Given the description of an element on the screen output the (x, y) to click on. 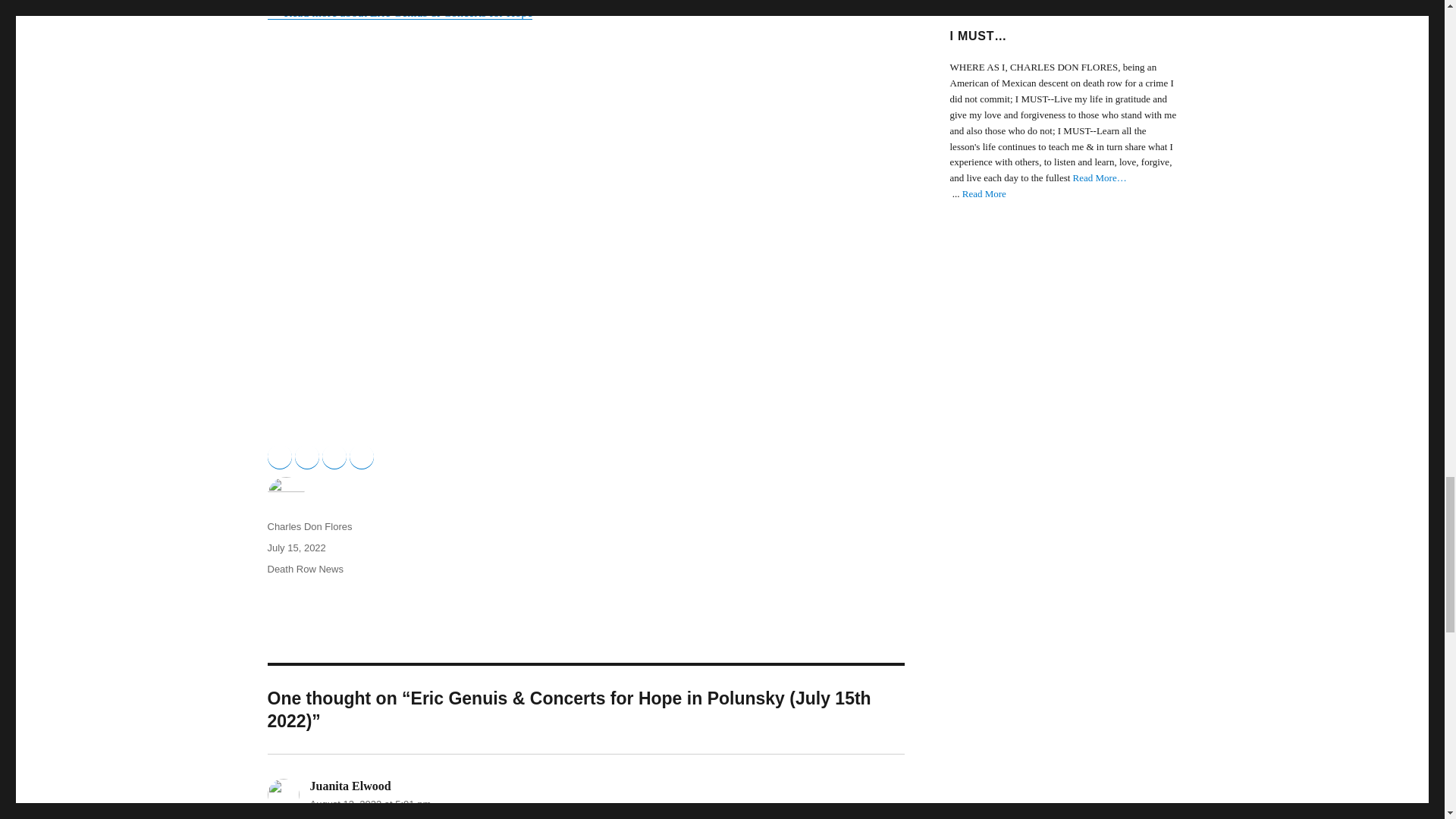
Share to Facebook (278, 456)
July 15, 2022 (295, 547)
Charles Don Flores (309, 526)
Share to LinkedIn (333, 456)
Death Row News (304, 568)
August 13, 2022 at 5:01 pm (369, 803)
Share to Twitter (306, 456)
Email this article (360, 456)
